Given the description of an element on the screen output the (x, y) to click on. 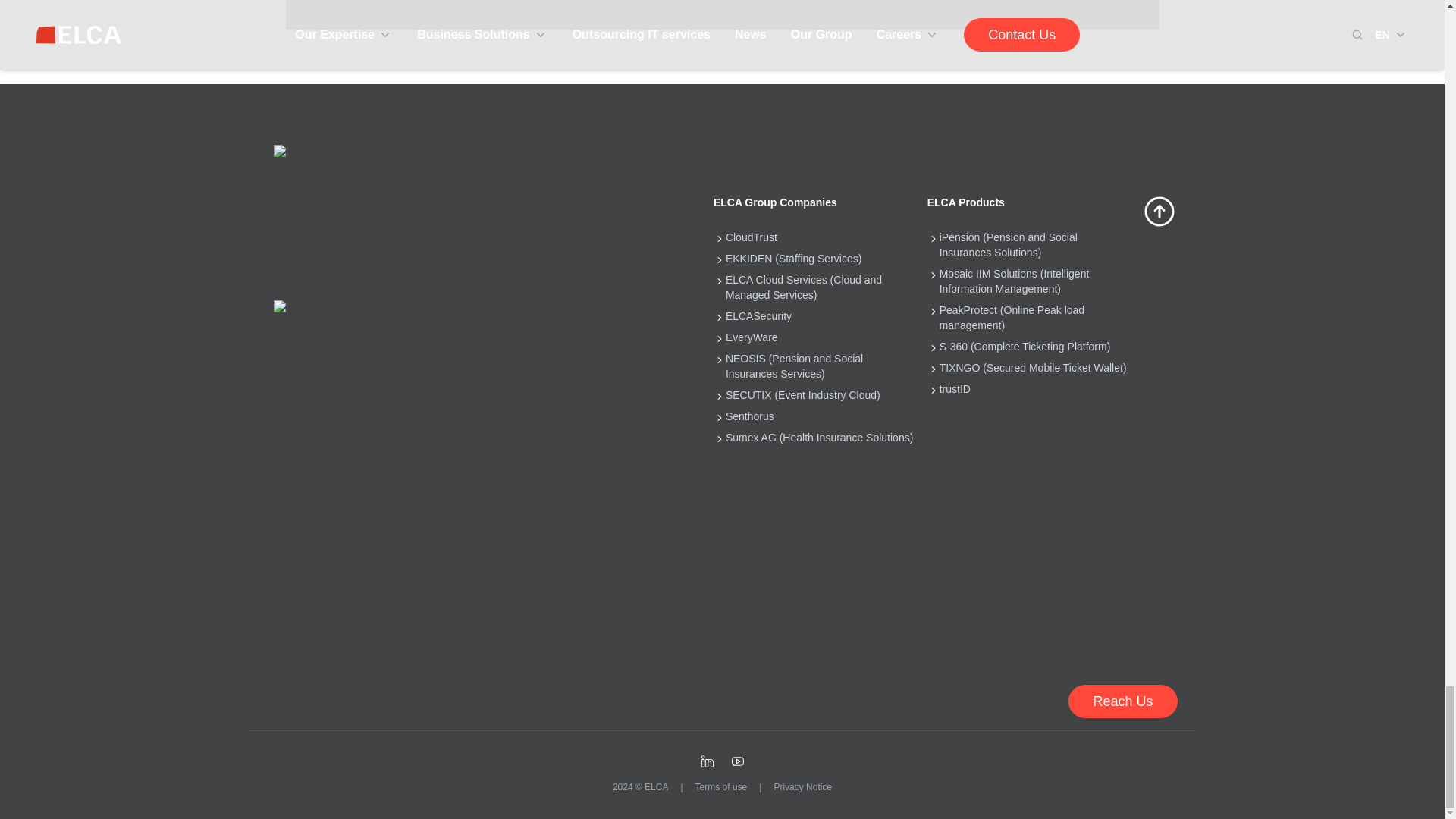
Senthorus (749, 416)
ELCASecurity (758, 315)
CloudTrust (751, 237)
EveryWare (751, 337)
